Given the description of an element on the screen output the (x, y) to click on. 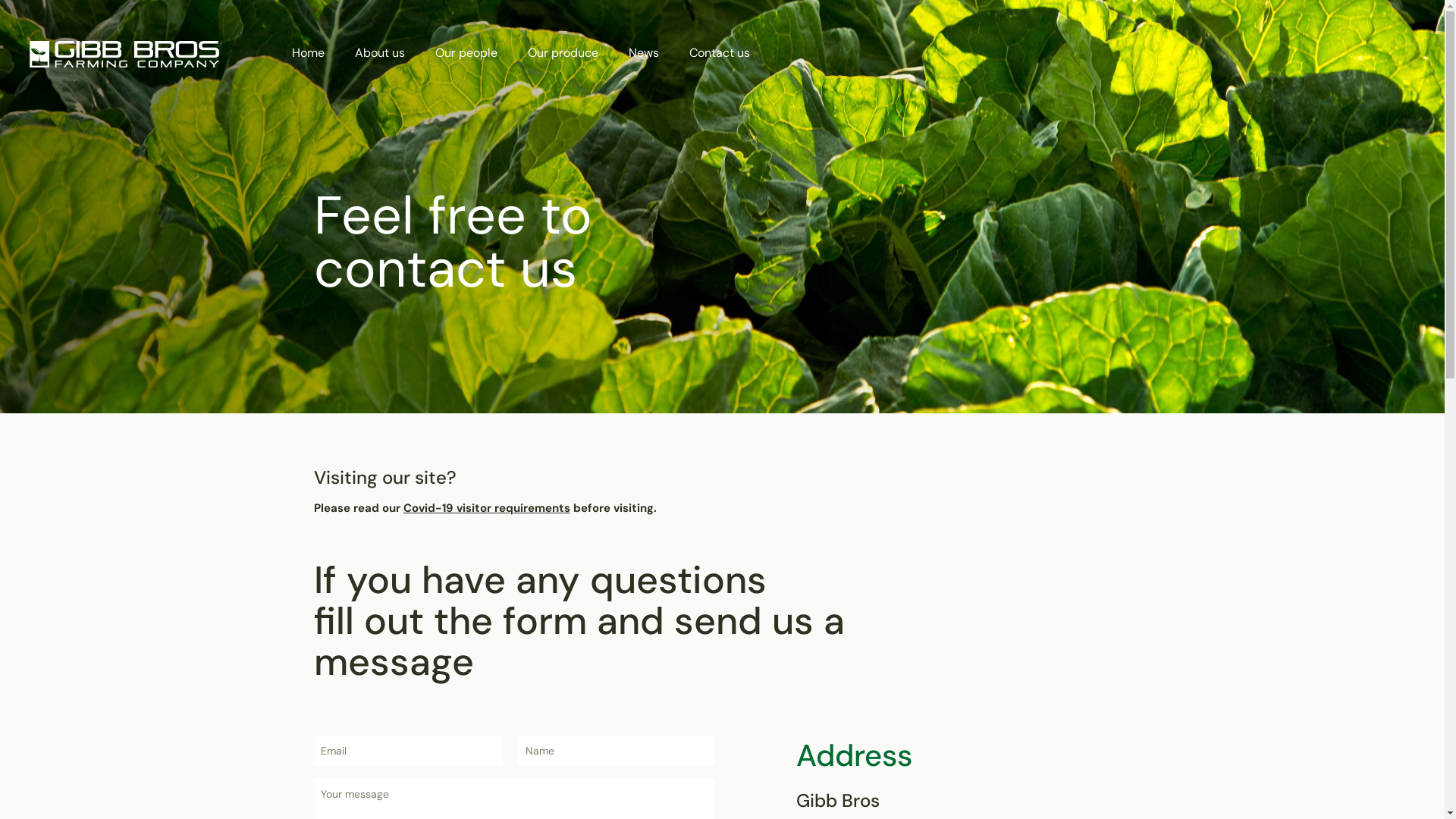
News Element type: text (643, 53)
Contact us Element type: text (719, 53)
Our produce Element type: text (562, 53)
Our people Element type: text (466, 53)
Home Element type: text (307, 53)
About us Element type: text (379, 53)
Covid-19 visitor requirements Element type: text (486, 507)
Gibb Brothers Element type: hover (124, 53)
